Given the description of an element on the screen output the (x, y) to click on. 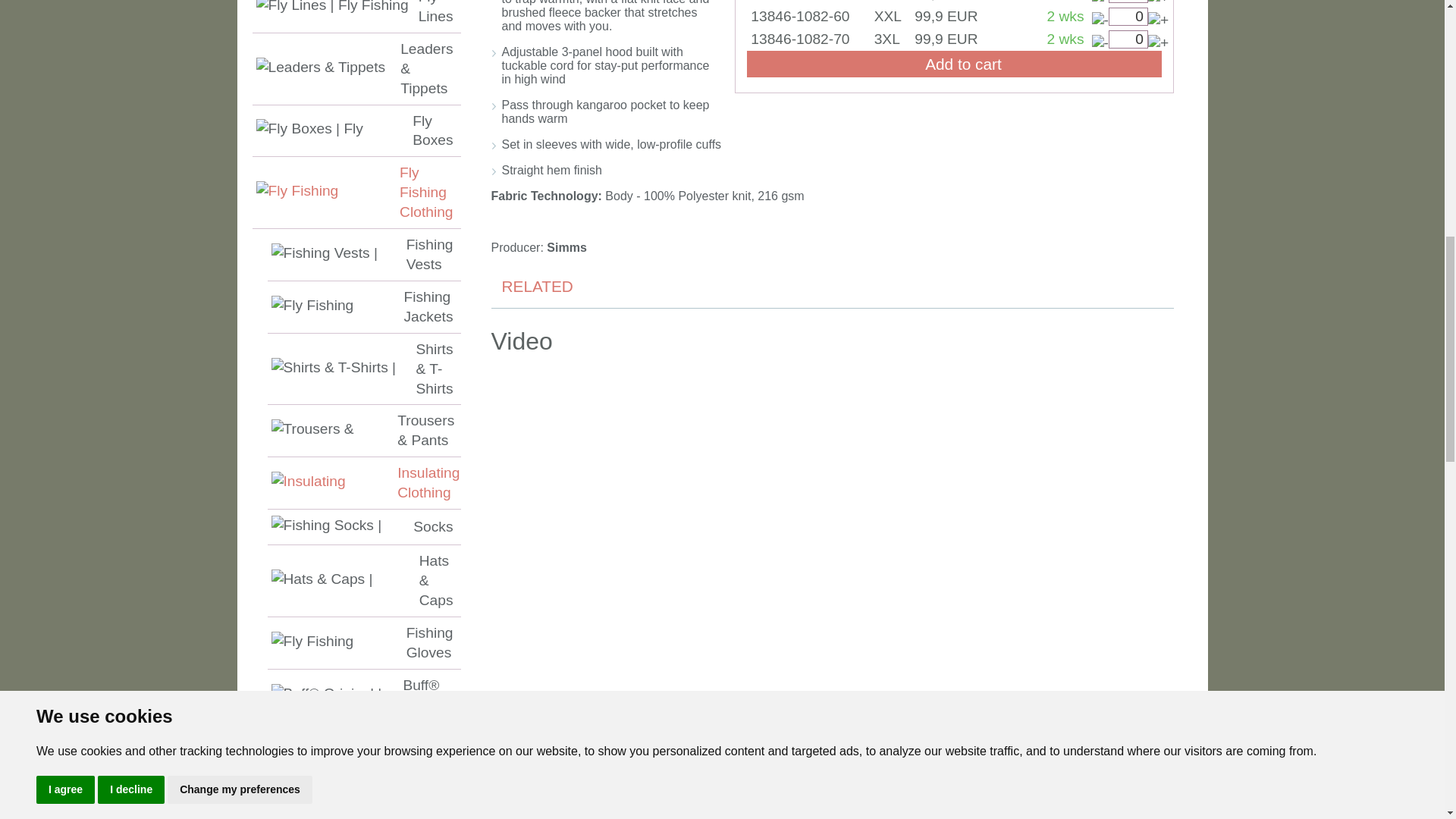
0 (1128, 1)
2 weeks delivery (1064, 16)
0 (1128, 16)
Add to cart (953, 63)
0 (1128, 39)
2 weeks delivery (1064, 0)
